Given the description of an element on the screen output the (x, y) to click on. 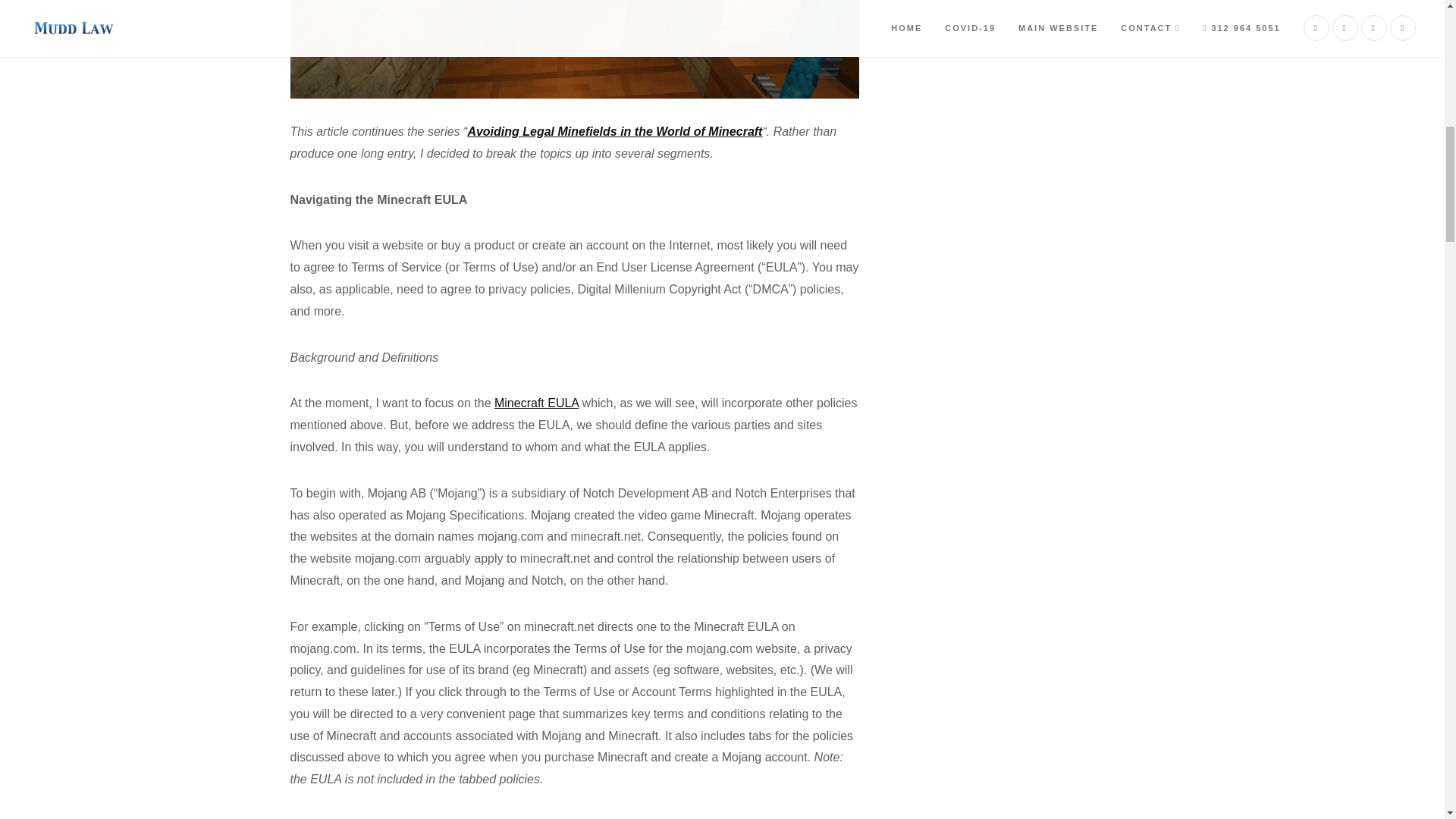
Minecraft EULA (536, 402)
Avoiding Legal Minefields in the World of Minecraft (614, 131)
Avoiding Legal Minefields in the World of Minecraft (614, 131)
